Given the description of an element on the screen output the (x, y) to click on. 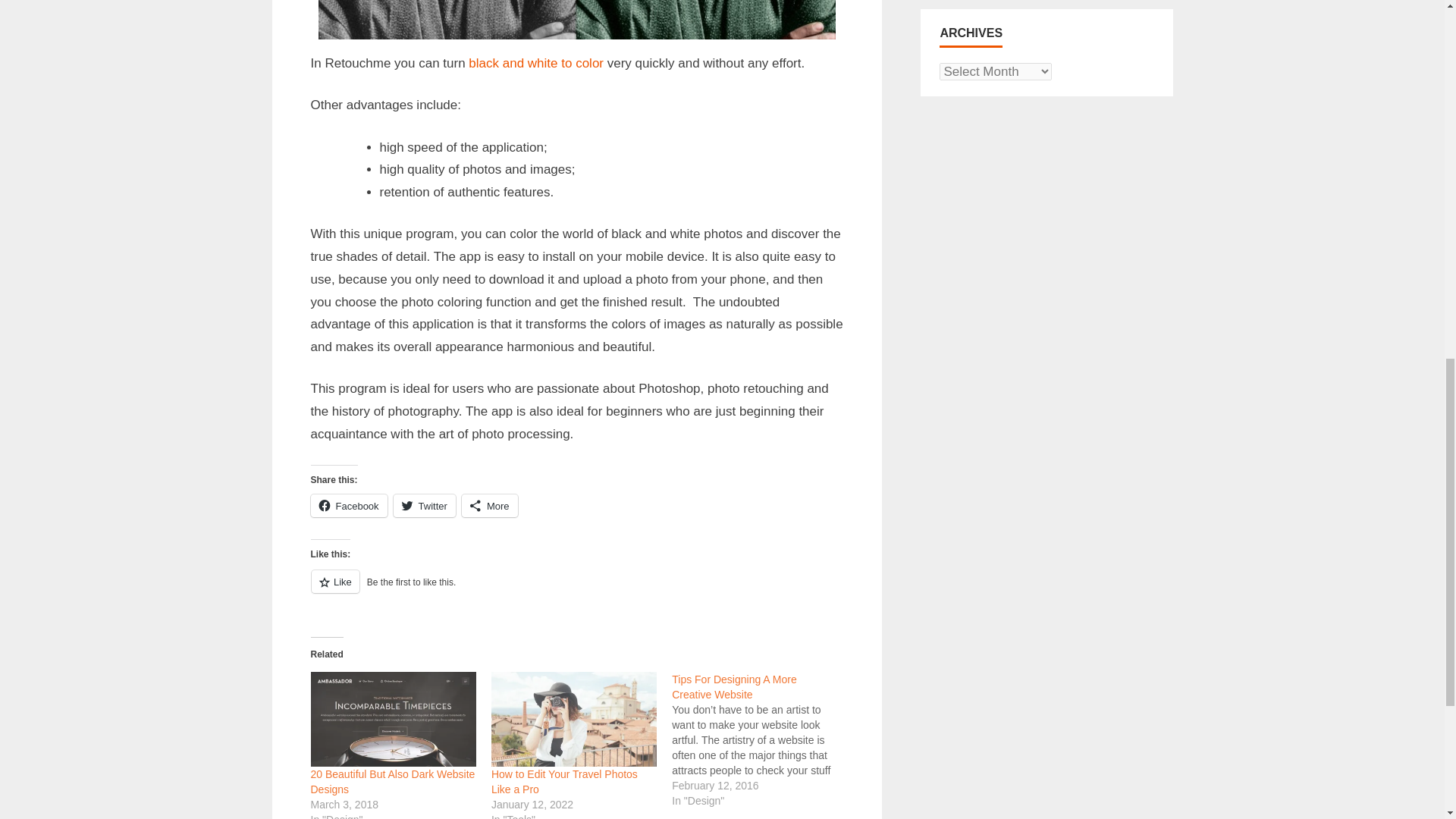
Twitter (424, 505)
How to Edit Your Travel Photos Like a Pro (574, 718)
How to Edit Your Travel Photos Like a Pro (564, 781)
Like or Reblog (577, 589)
Click to share on Facebook (349, 505)
20 Beautiful But Also Dark Website Designs (393, 781)
Tips For Designing A More Creative Website (733, 687)
black and white to color (536, 63)
20 Beautiful But Also Dark Website Designs (393, 718)
20 Beautiful But Also Dark Website Designs (393, 781)
How to Edit Your Travel Photos Like a Pro (564, 781)
More (489, 505)
Tips For Designing A More Creative Website (761, 739)
Click to share on Twitter (424, 505)
Facebook (349, 505)
